Given the description of an element on the screen output the (x, y) to click on. 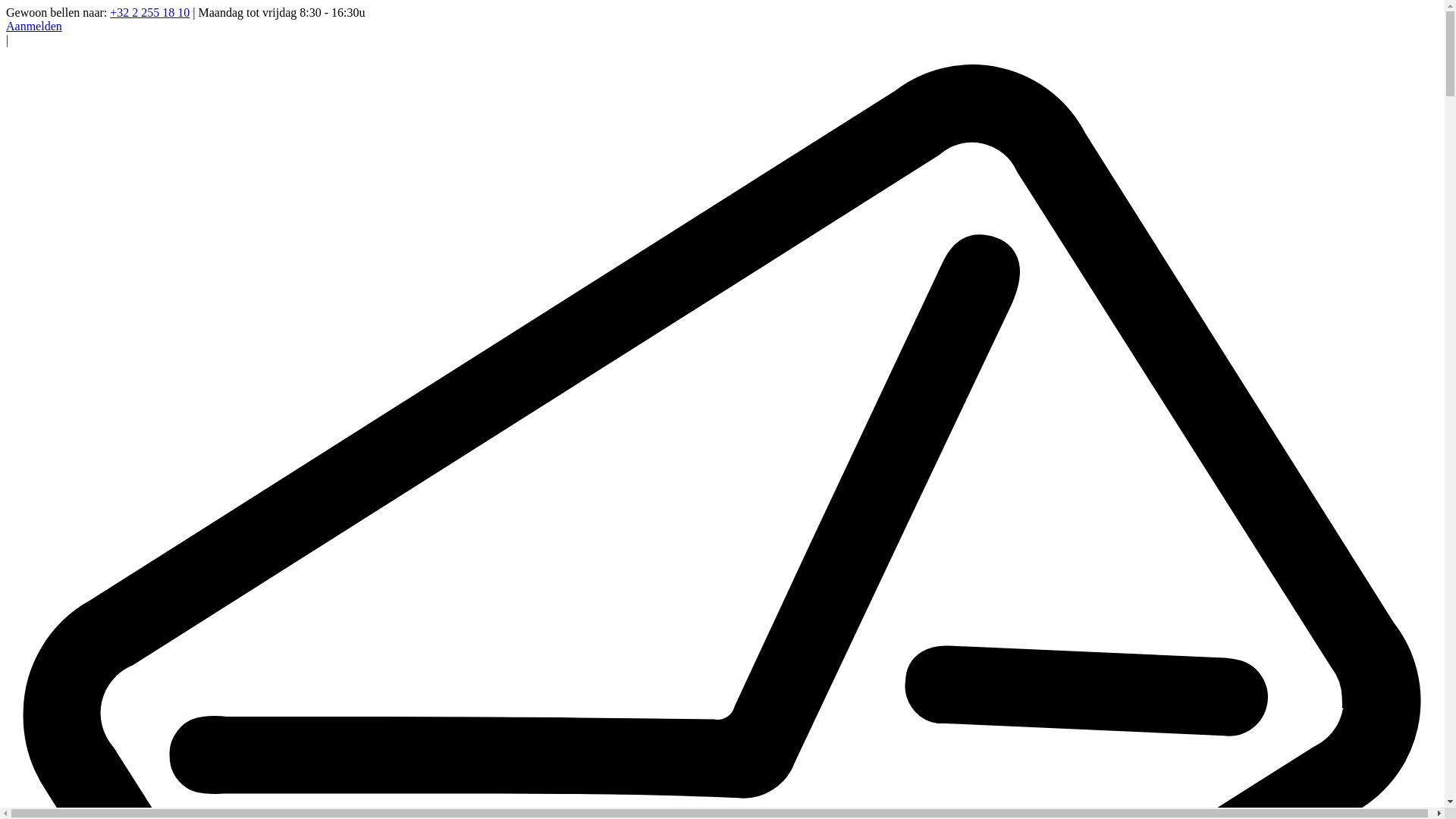
Aanmelden
| Element type: text (722, 32)
+32 2 255 18 10 Element type: text (149, 12)
